Given the description of an element on the screen output the (x, y) to click on. 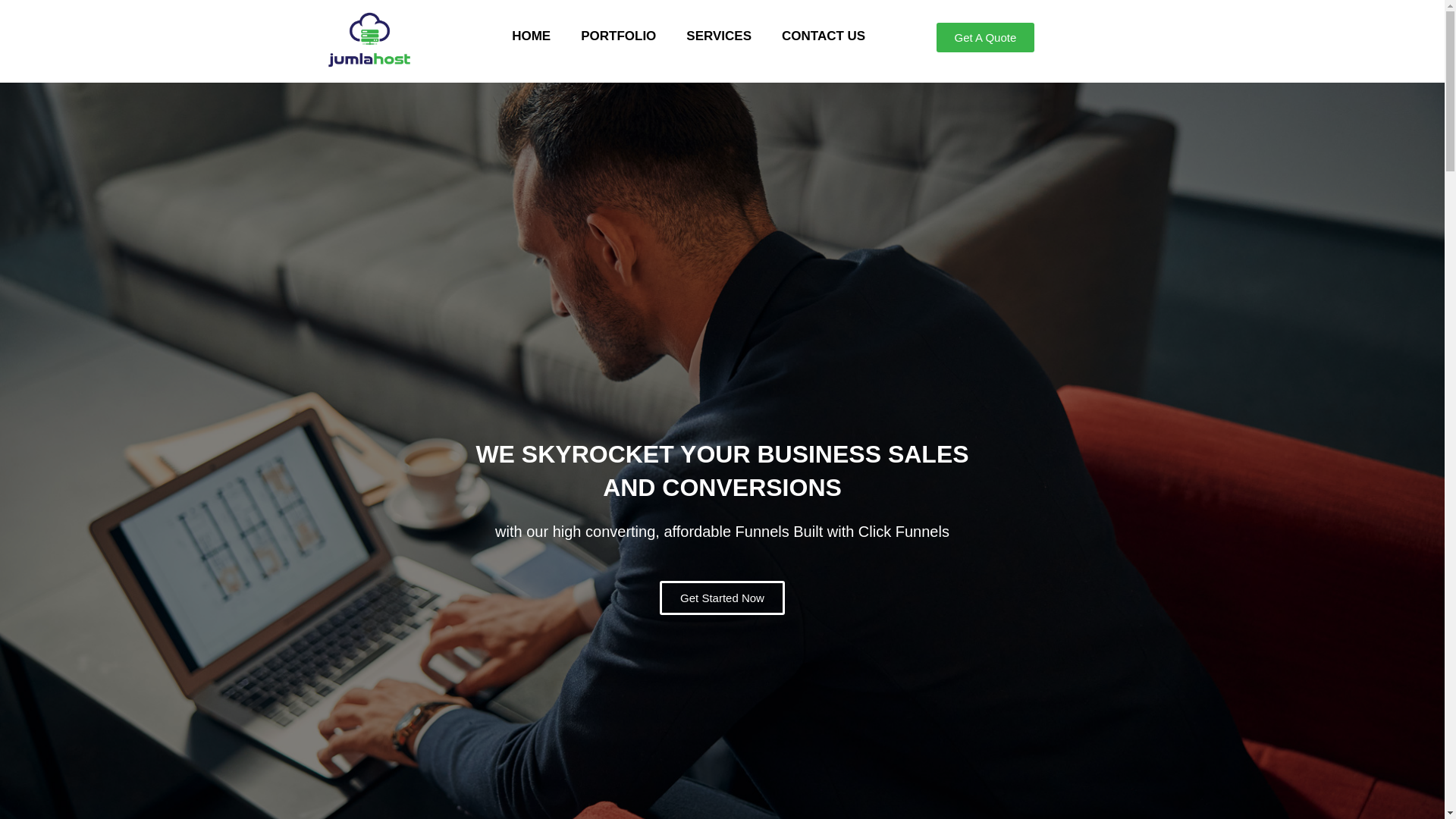
Get A Quote (985, 67)
CONTACT US (823, 36)
HOME (531, 36)
PORTFOLIO (618, 36)
Get Started Now (721, 634)
SERVICES (719, 36)
